Given the description of an element on the screen output the (x, y) to click on. 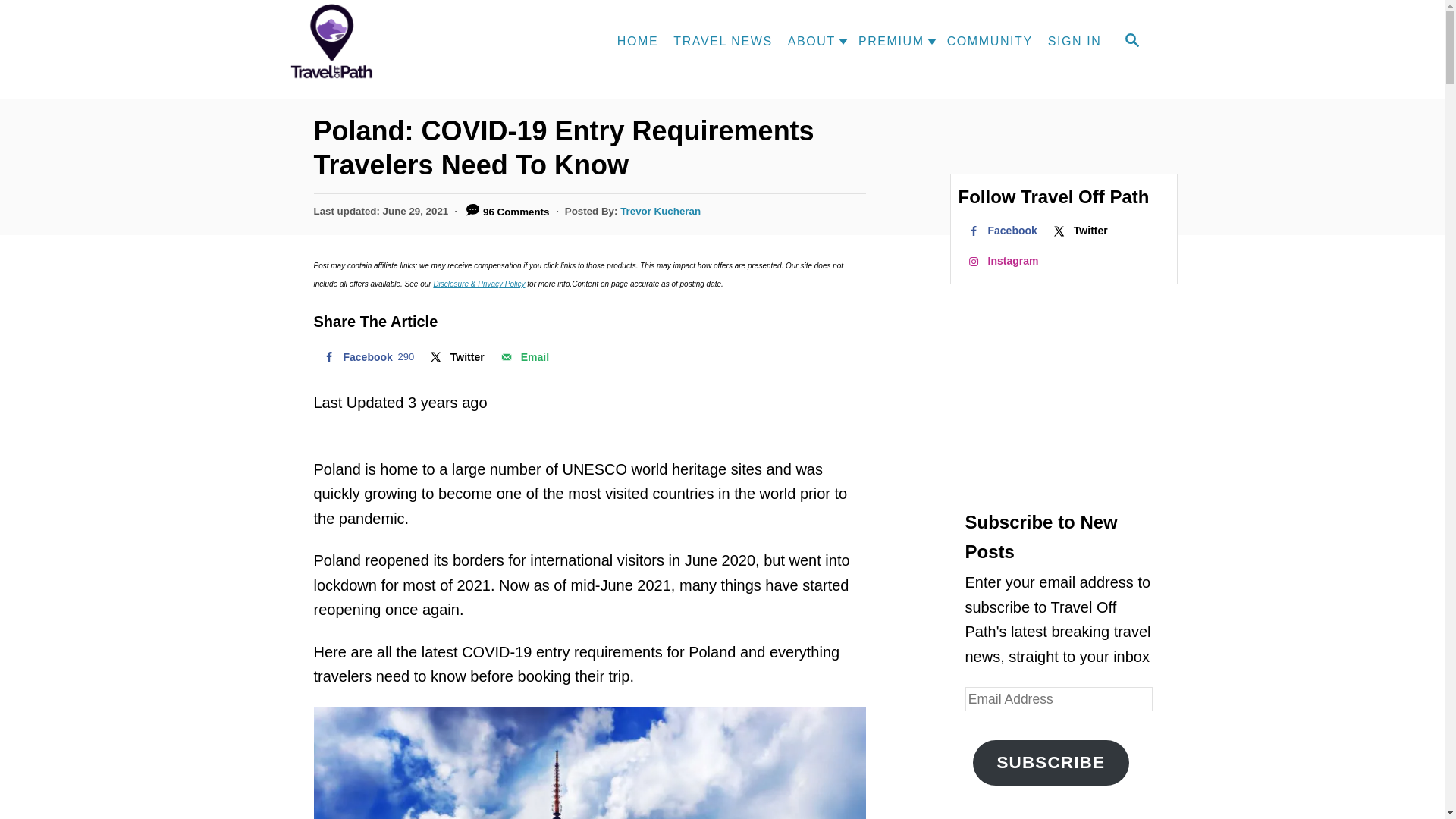
SEARCH (1131, 40)
Trevor Kucheran (660, 211)
Follow on Instagram (1001, 260)
Travel Off Path (345, 41)
Send over email (524, 357)
Follow on Facebook (1000, 230)
HOME (637, 41)
Twitter (456, 357)
Follow on X (1079, 230)
Share on X (456, 357)
